Given the description of an element on the screen output the (x, y) to click on. 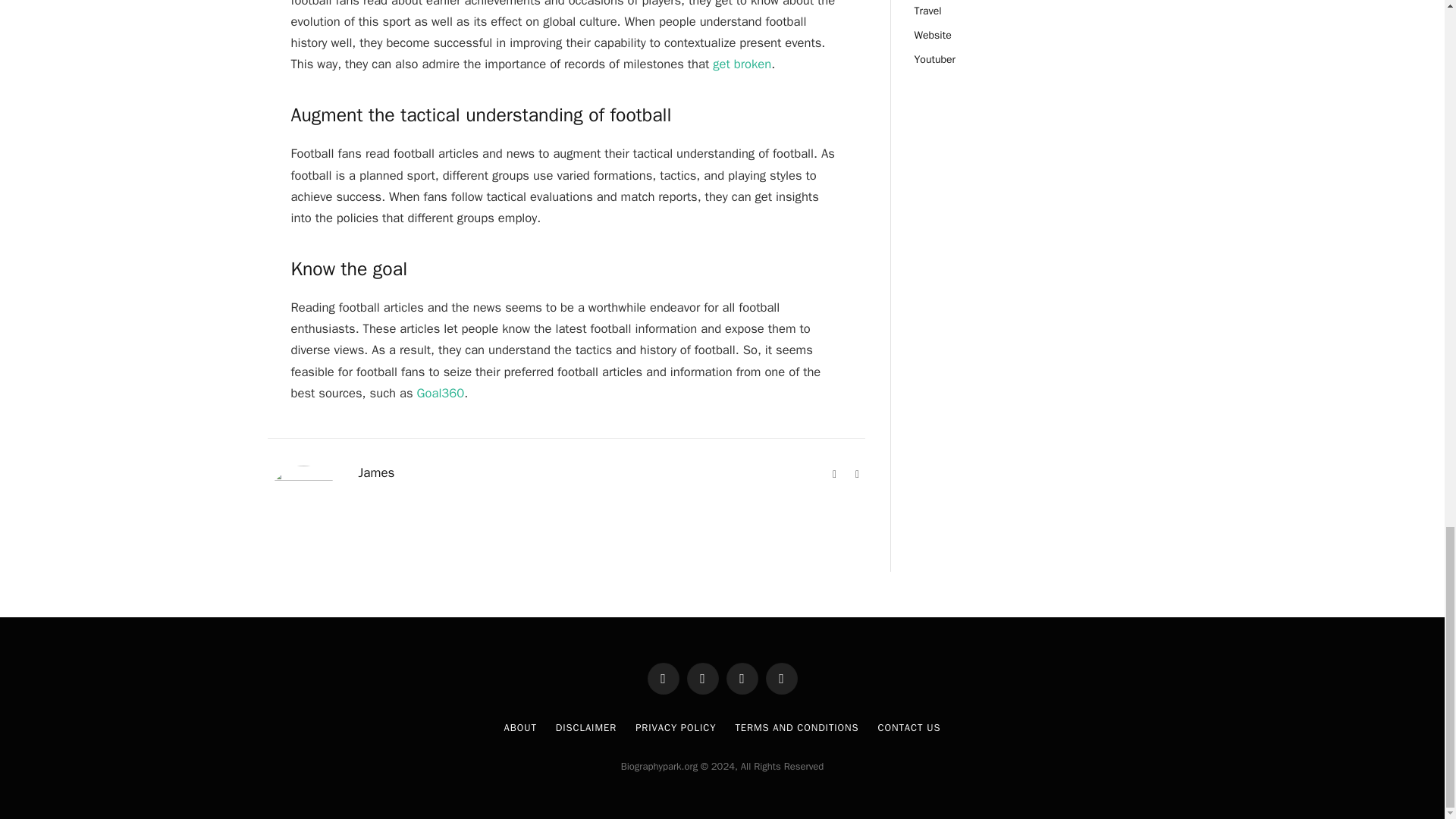
Facebook (856, 474)
James (376, 473)
Website (834, 474)
Facebook (856, 474)
Posts by James (376, 473)
get broken (742, 64)
Website (834, 474)
Goal360 (440, 392)
